Given the description of an element on the screen output the (x, y) to click on. 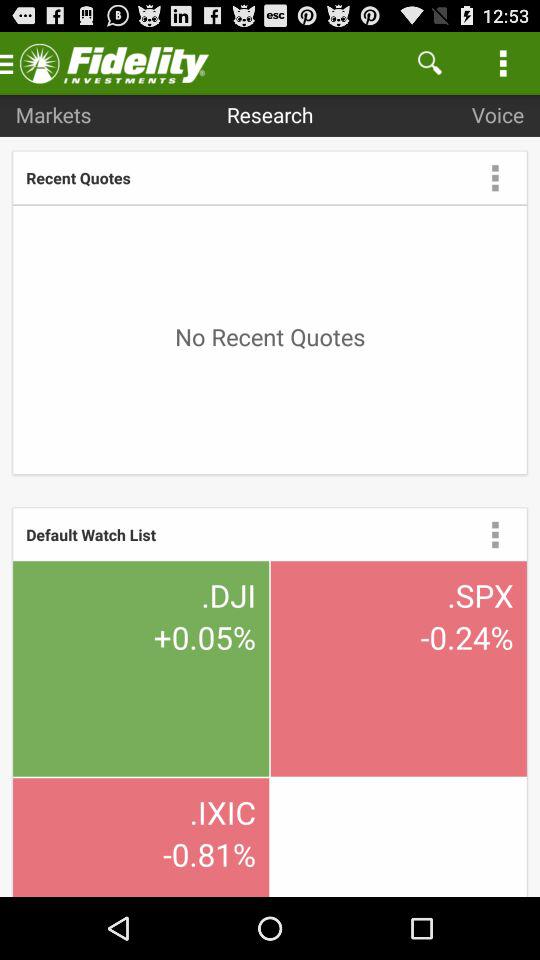
flip to markets item (53, 114)
